Given the description of an element on the screen output the (x, y) to click on. 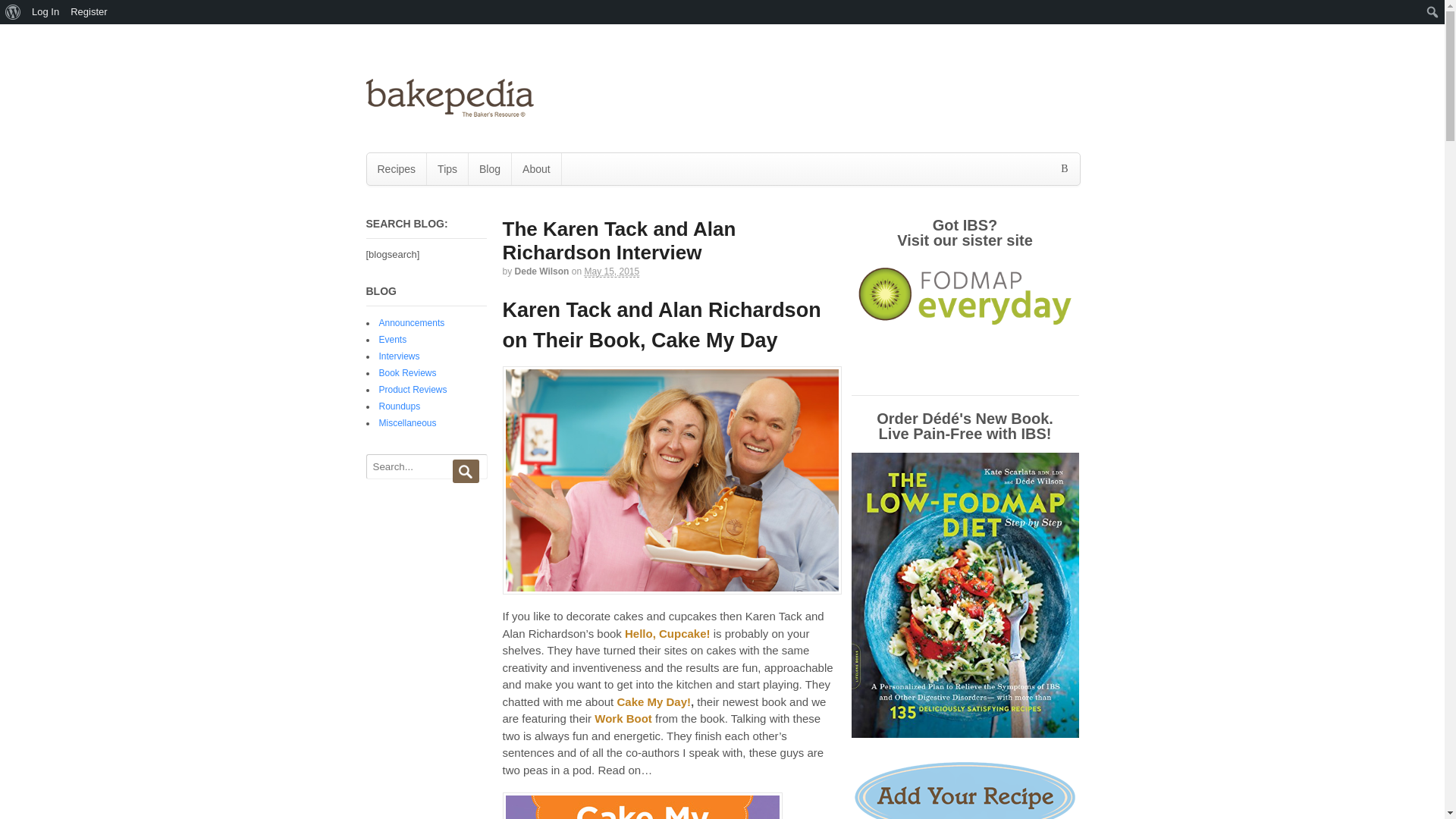
Dede Wilson (542, 271)
Blog (489, 169)
Book Reviews (407, 372)
Interviews (399, 356)
Search... (423, 466)
Work Boot (623, 717)
Cake My Day! (652, 701)
Posts by Dede Wilson (542, 271)
Miscellaneous (407, 422)
Product Reviews (412, 389)
Roundups (399, 406)
Announcements (411, 322)
2015-05-15T06:00:33-0400 (611, 271)
Recipes (396, 169)
Events (392, 339)
